Given the description of an element on the screen output the (x, y) to click on. 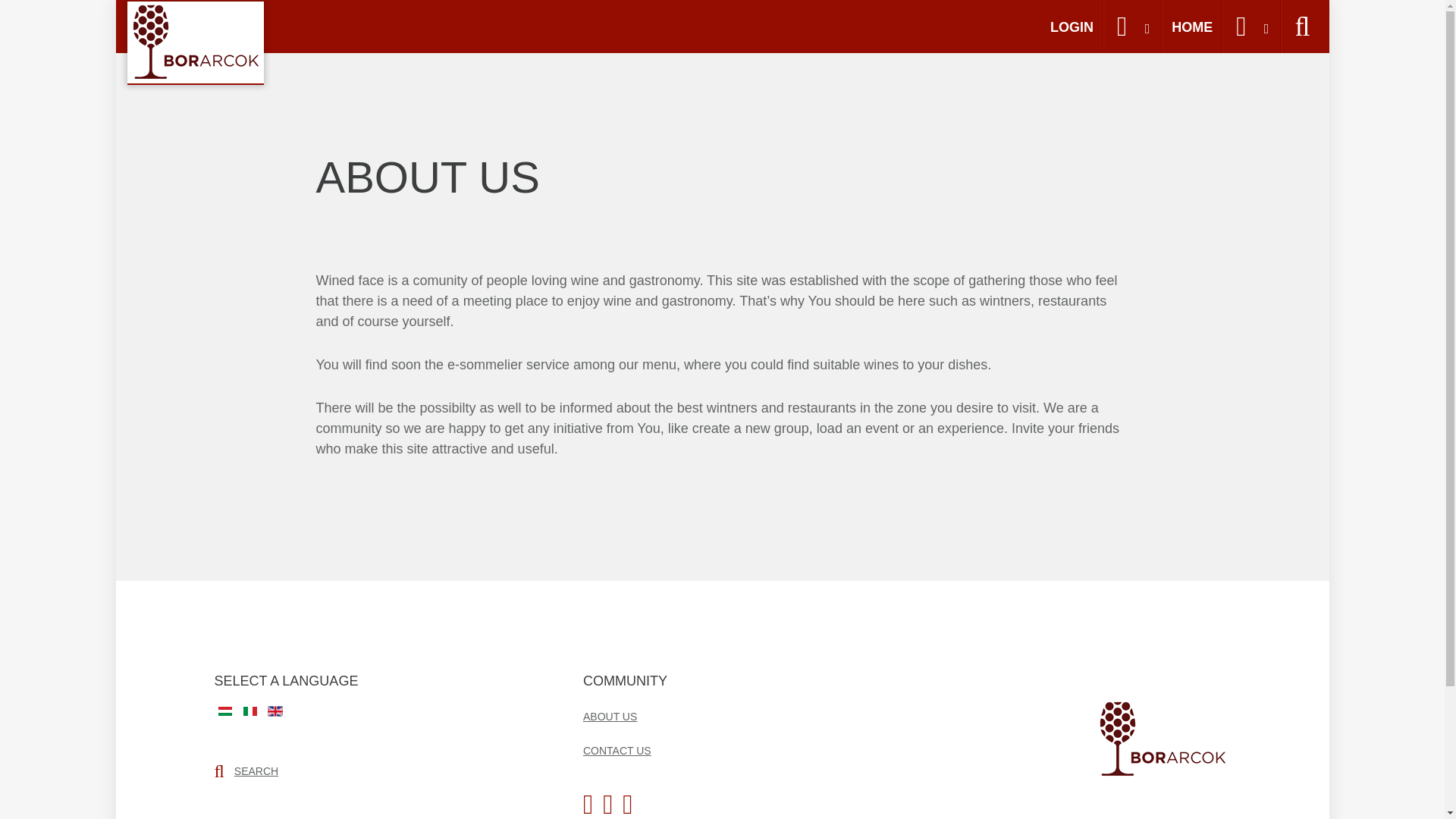
Magyar (224, 710)
HOME (1192, 26)
ABOUT US (610, 716)
LOGIN (1072, 26)
CONTACT US (616, 750)
SEARCH (256, 770)
